Given the description of an element on the screen output the (x, y) to click on. 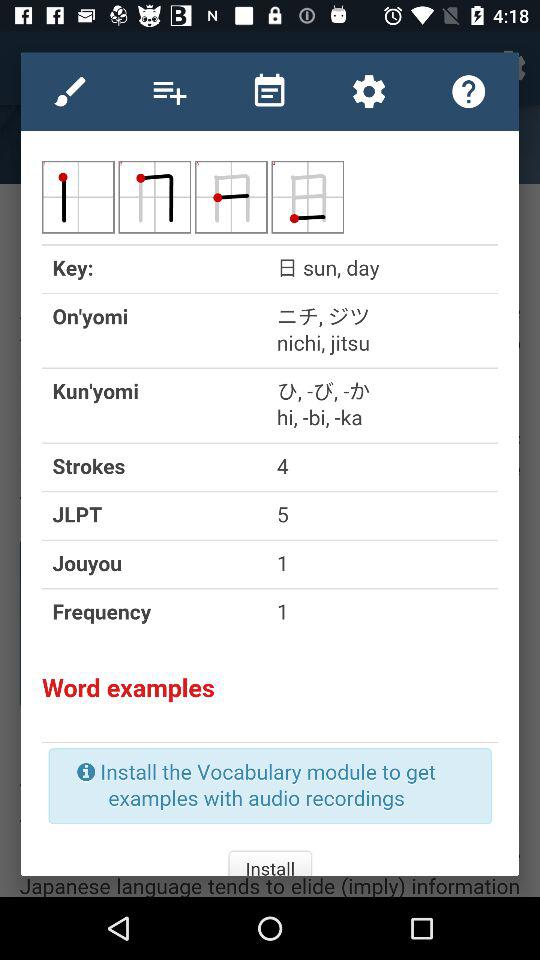
go to all (269, 91)
